Given the description of an element on the screen output the (x, y) to click on. 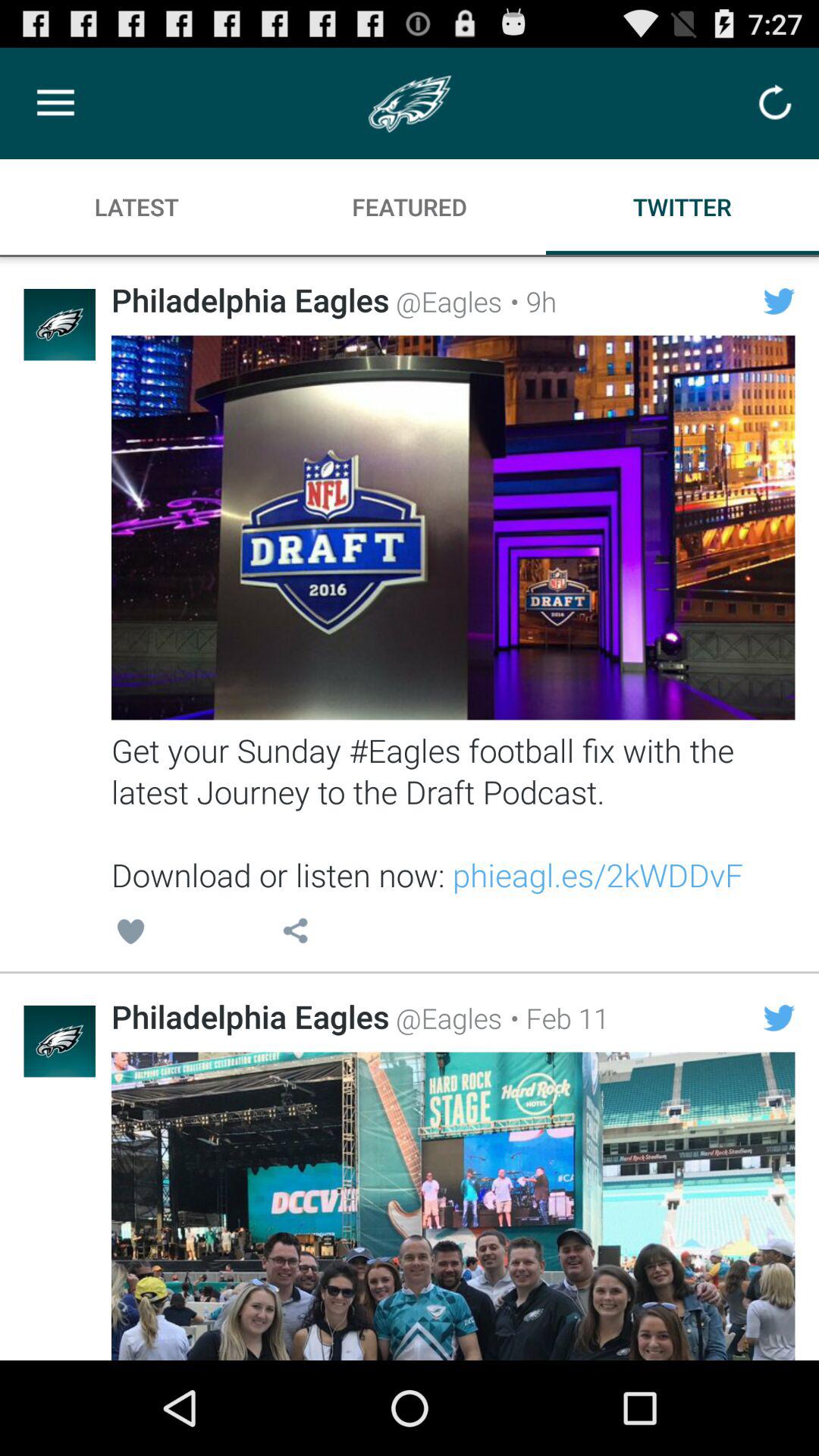
launch icon below get your sunday item (131, 933)
